Given the description of an element on the screen output the (x, y) to click on. 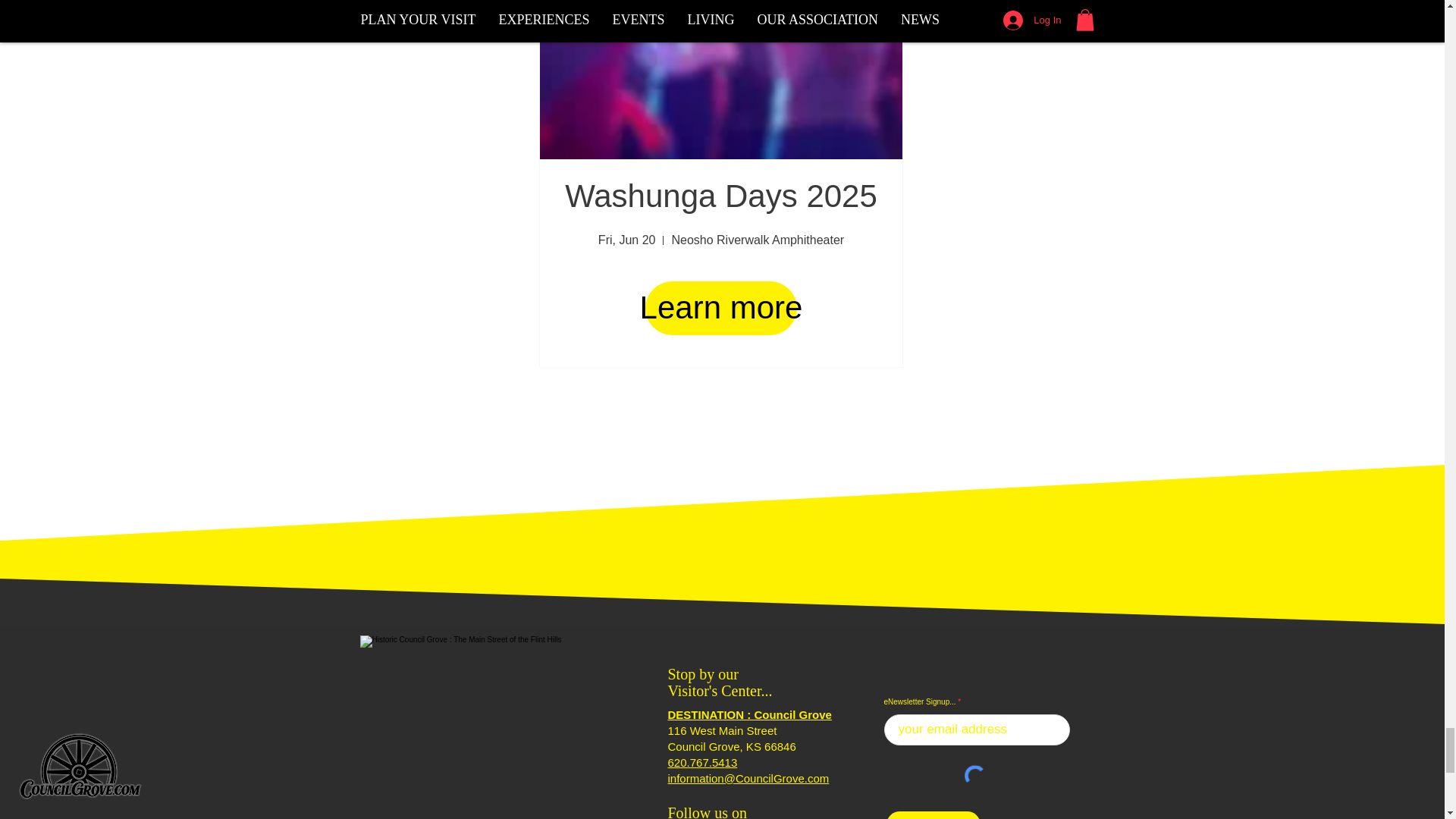
Logo-Tourism-Experience-MainStreet-Rever (493, 727)
